Given the description of an element on the screen output the (x, y) to click on. 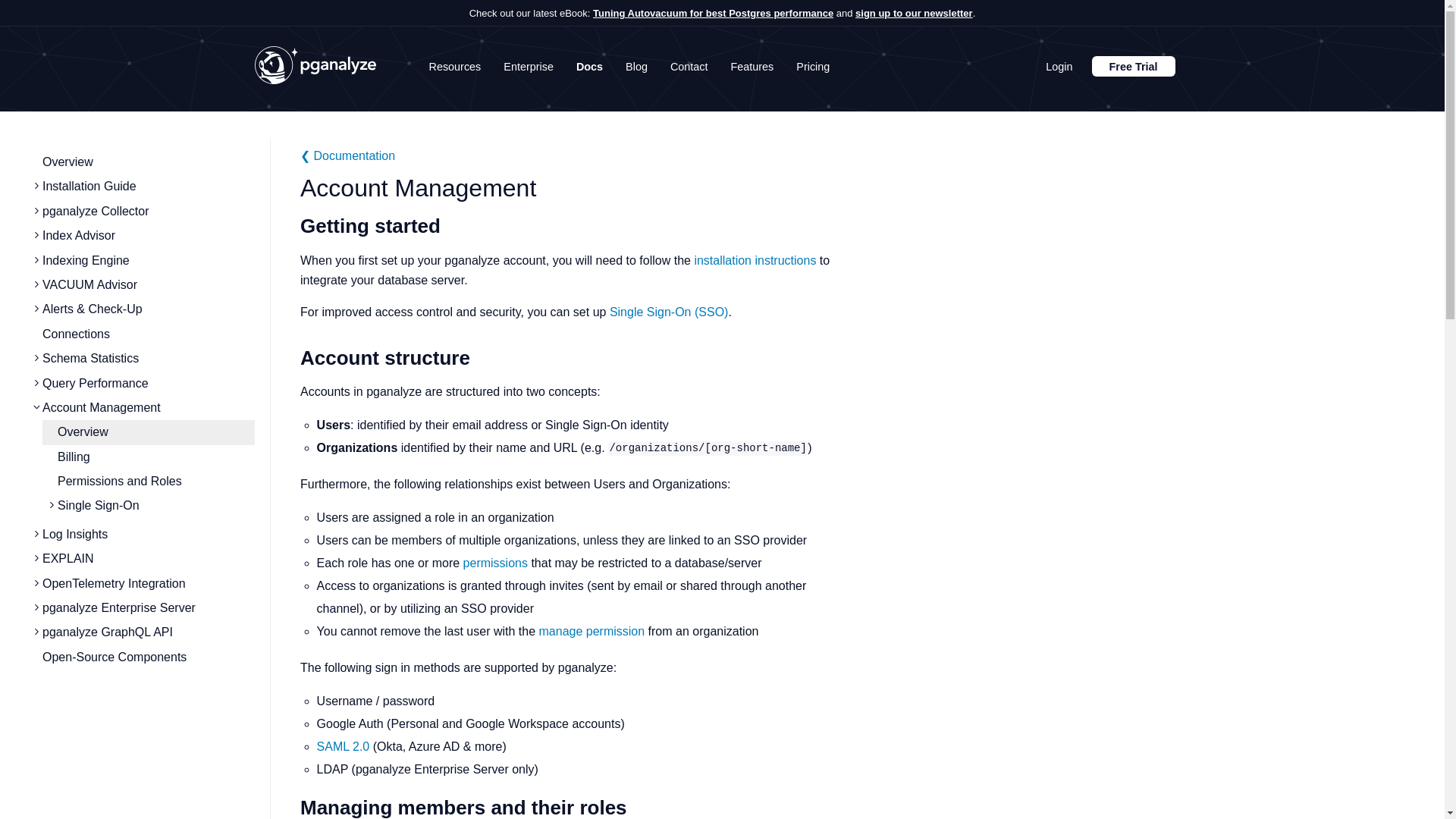
Enterprise (528, 67)
installation instructions (754, 259)
Index Advisor (78, 235)
OpenTelemetry Integration (114, 583)
Billing (74, 456)
Contact (688, 67)
Pricing (812, 67)
Permissions and Roles (120, 481)
VACUUM Advisor (89, 284)
Resources (455, 67)
